Given the description of an element on the screen output the (x, y) to click on. 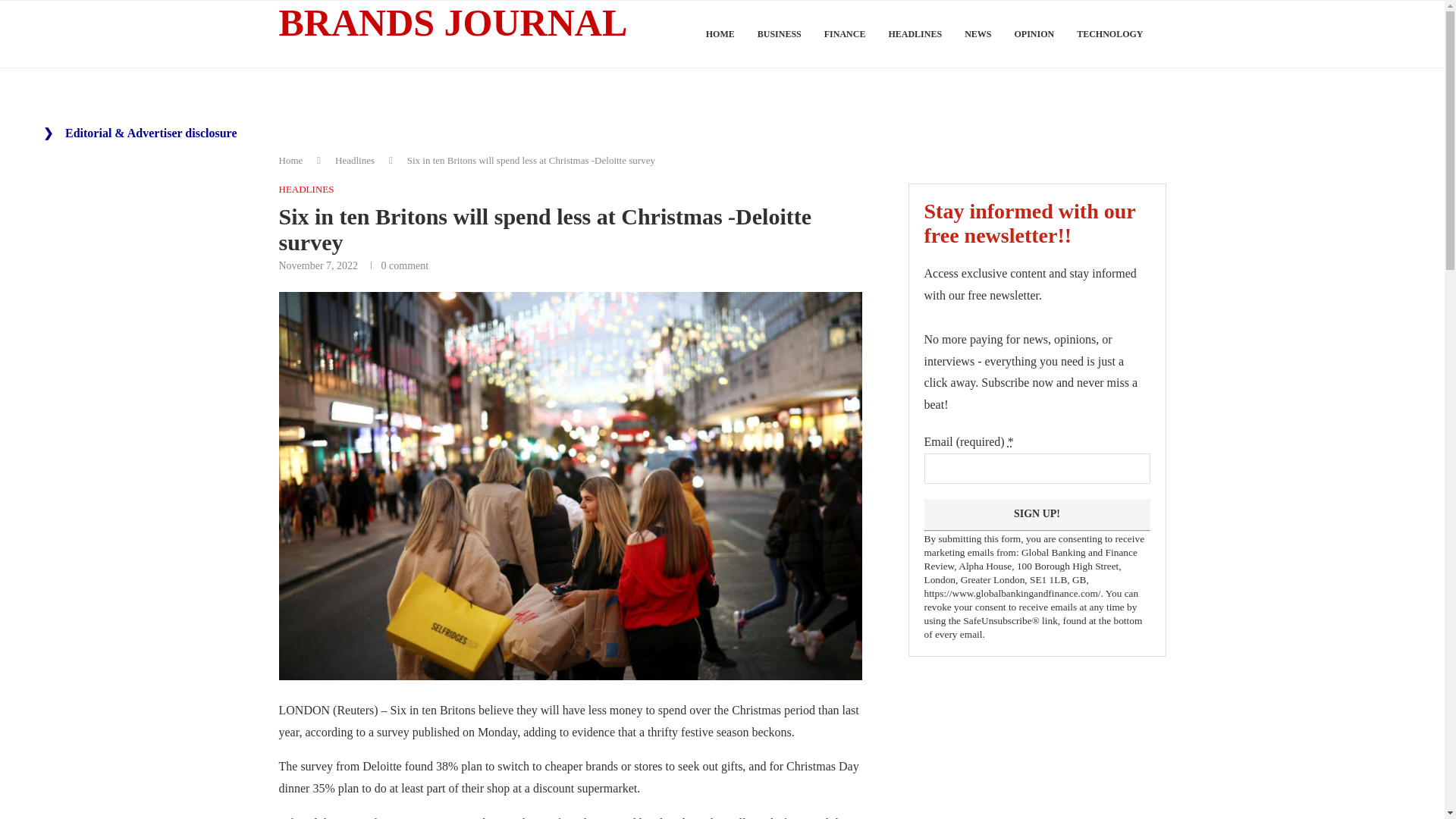
Home (290, 160)
Sign up! (1036, 513)
Sign up! (1036, 513)
BRANDS JOURNAL (453, 22)
HEADLINES (306, 189)
Headlines (354, 160)
TECHNOLOGY (1109, 33)
